Given the description of an element on the screen output the (x, y) to click on. 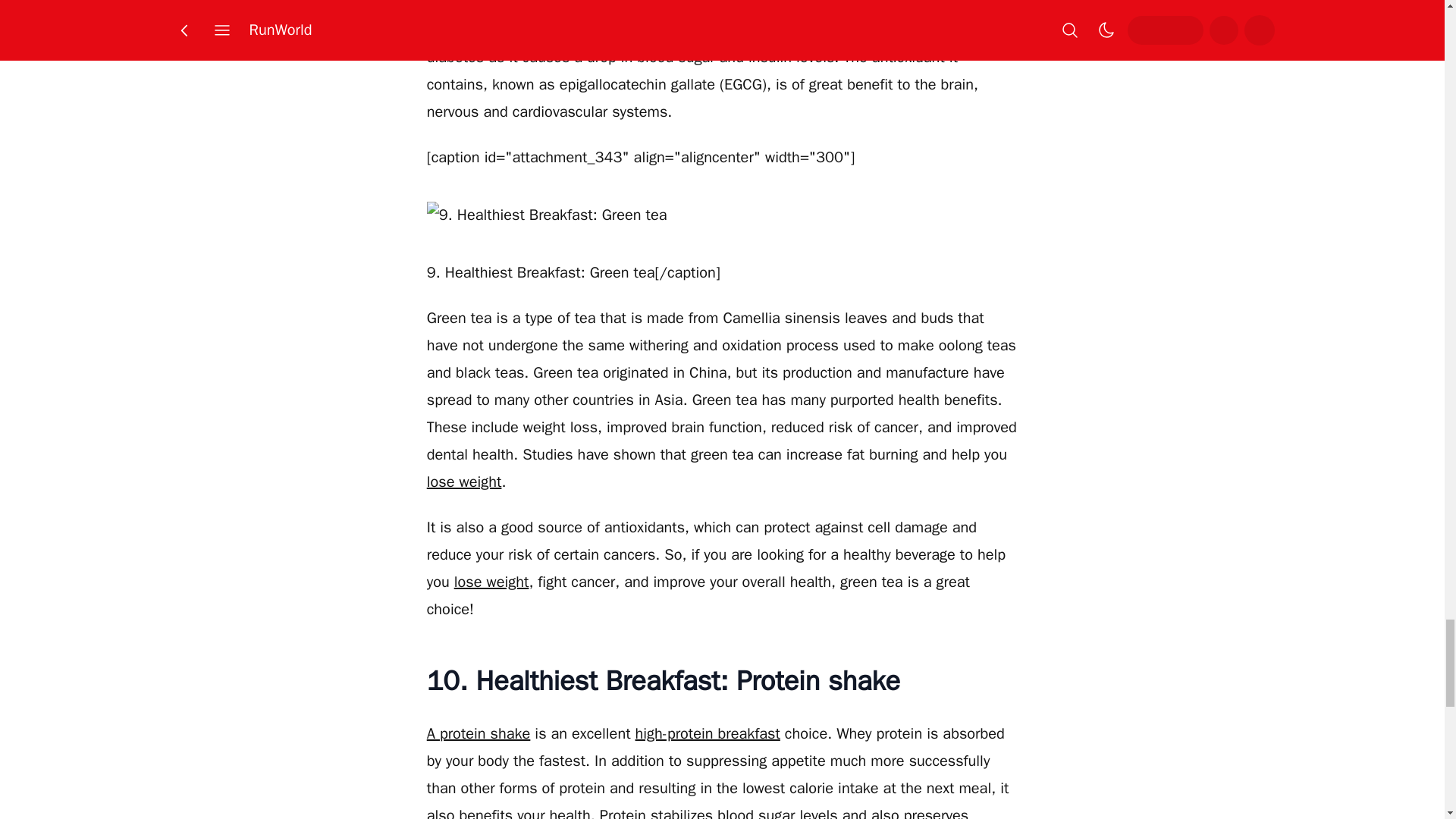
high-protein breakfast (707, 732)
A protein shake (478, 732)
lose weight (491, 581)
lose weight (464, 481)
